Given the description of an element on the screen output the (x, y) to click on. 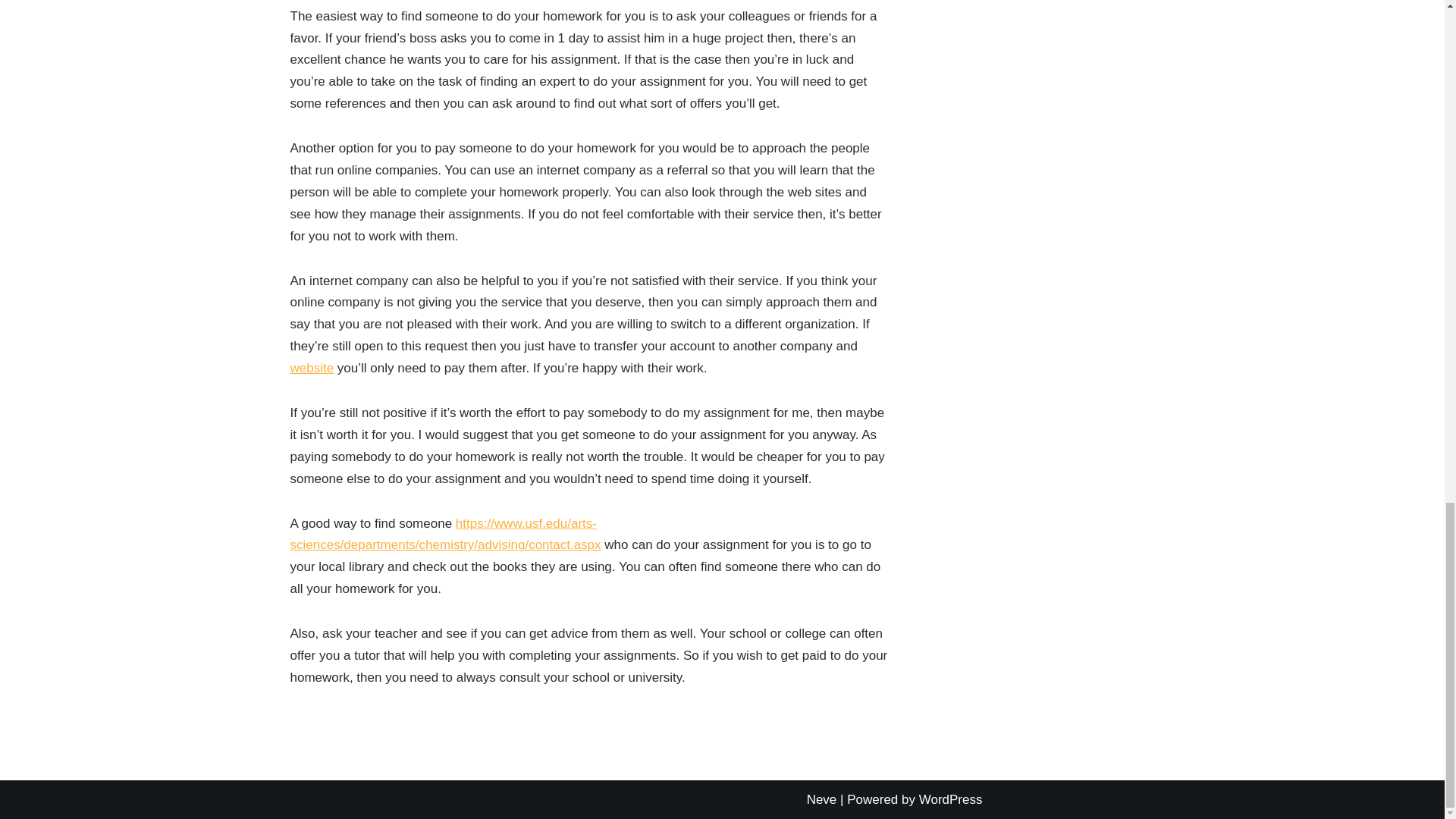
website (311, 368)
Neve (821, 799)
WordPress (950, 799)
